Given the description of an element on the screen output the (x, y) to click on. 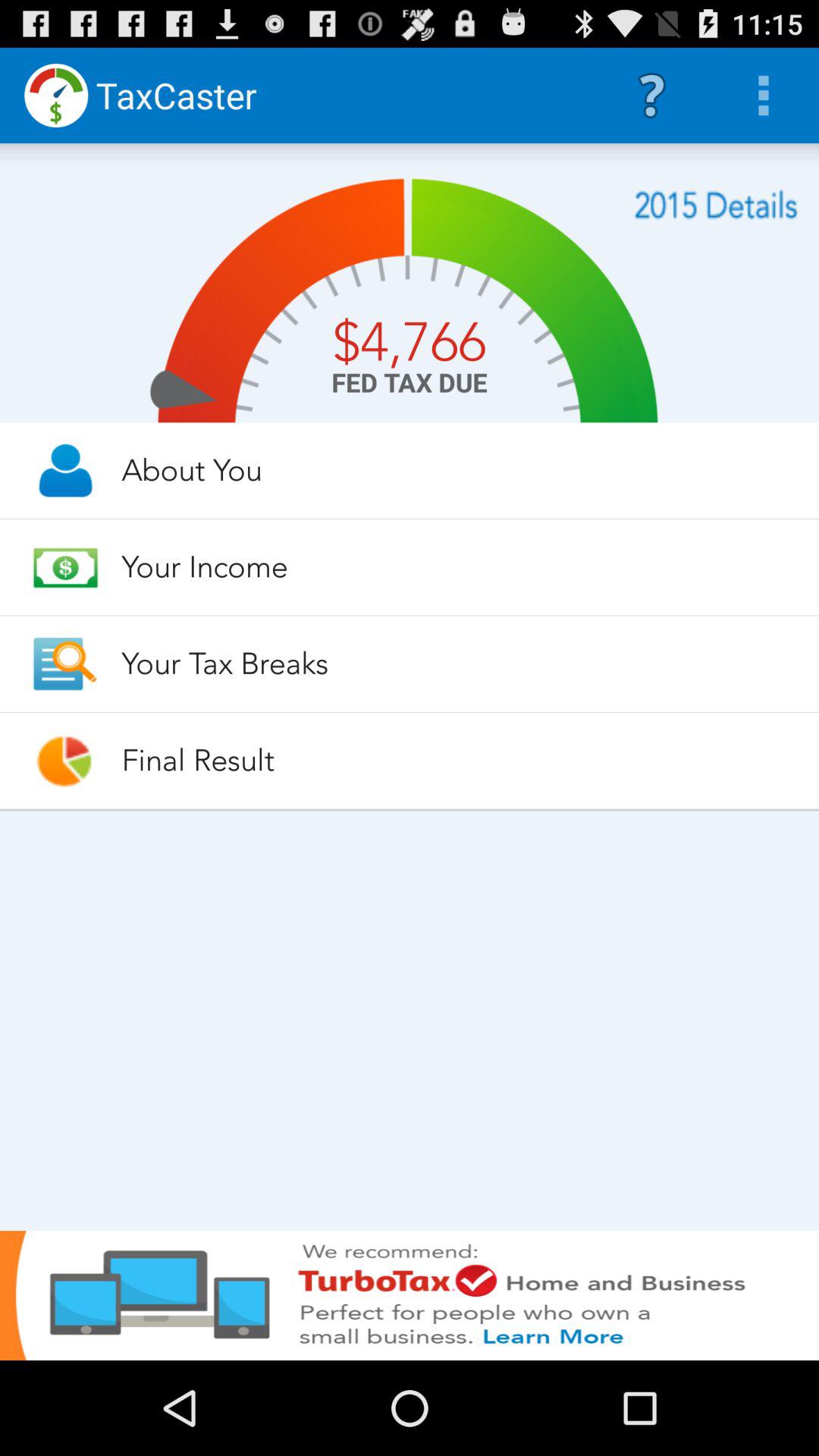
click about you item (456, 470)
